Given the description of an element on the screen output the (x, y) to click on. 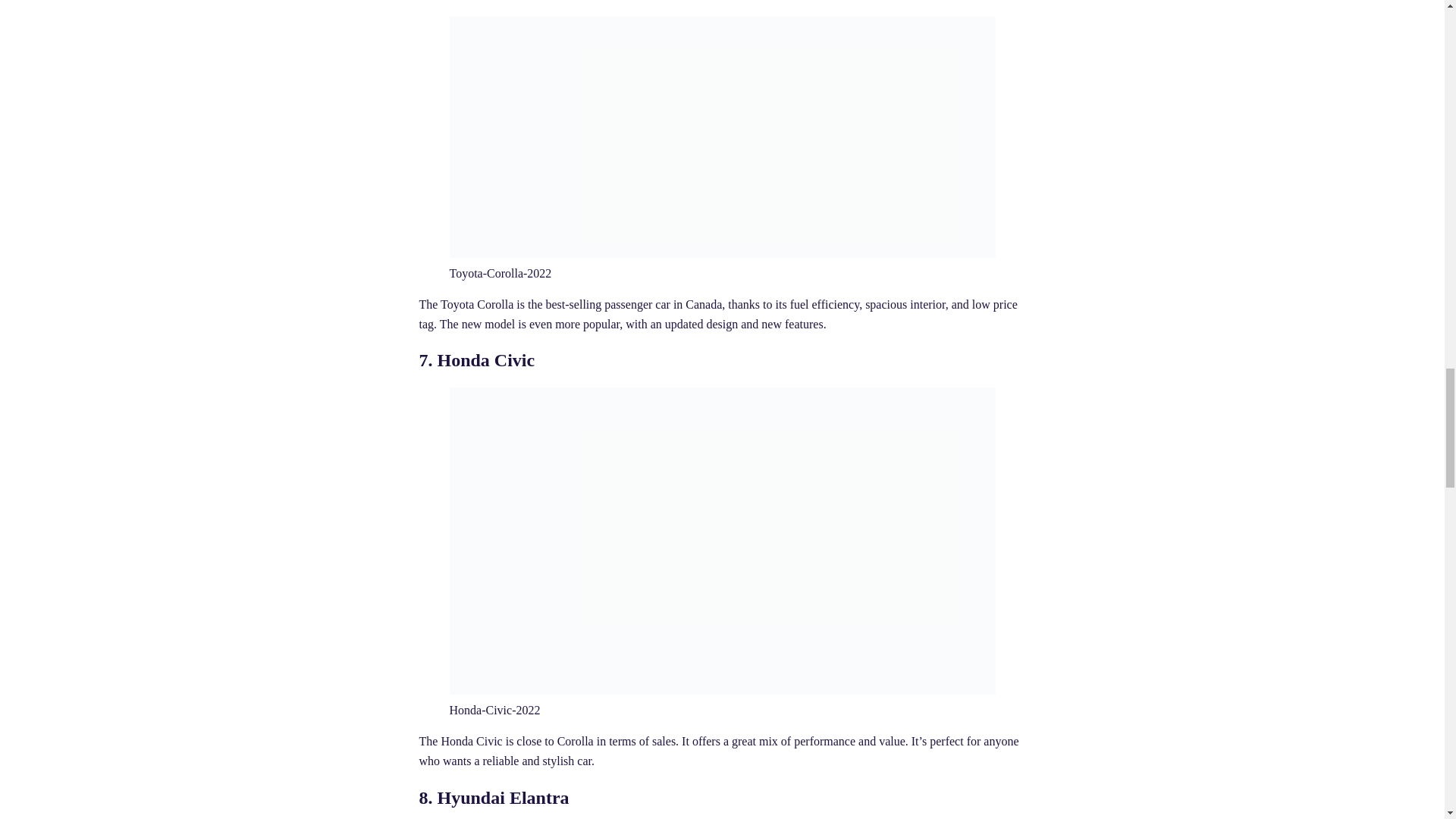
The 10 Best Selling Vehicles in Canada in 2022 5 (721, 136)
